Given the description of an element on the screen output the (x, y) to click on. 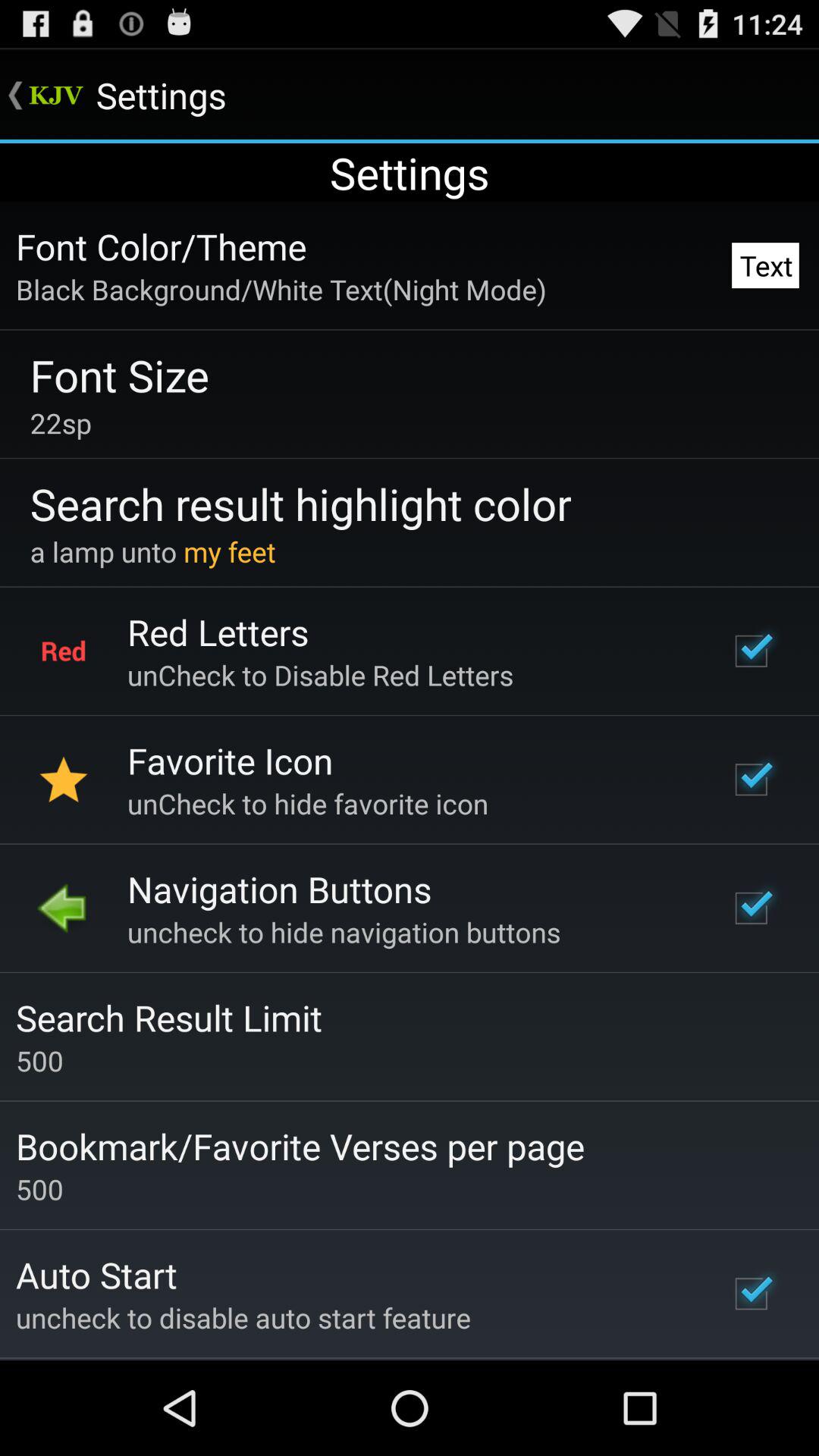
tap the app to the left of the text (280, 289)
